Given the description of an element on the screen output the (x, y) to click on. 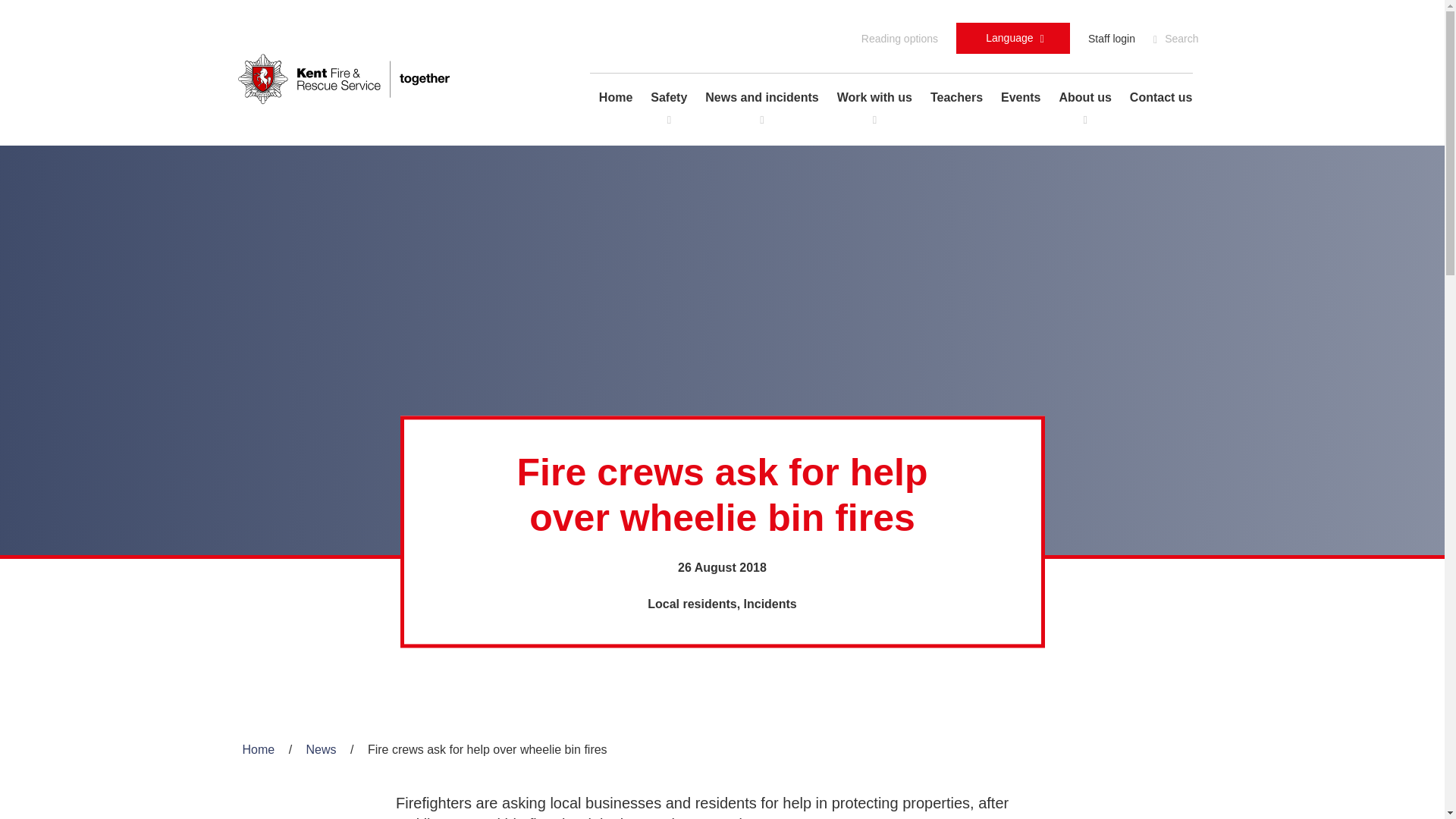
Reading options (899, 38)
